Given the description of an element on the screen output the (x, y) to click on. 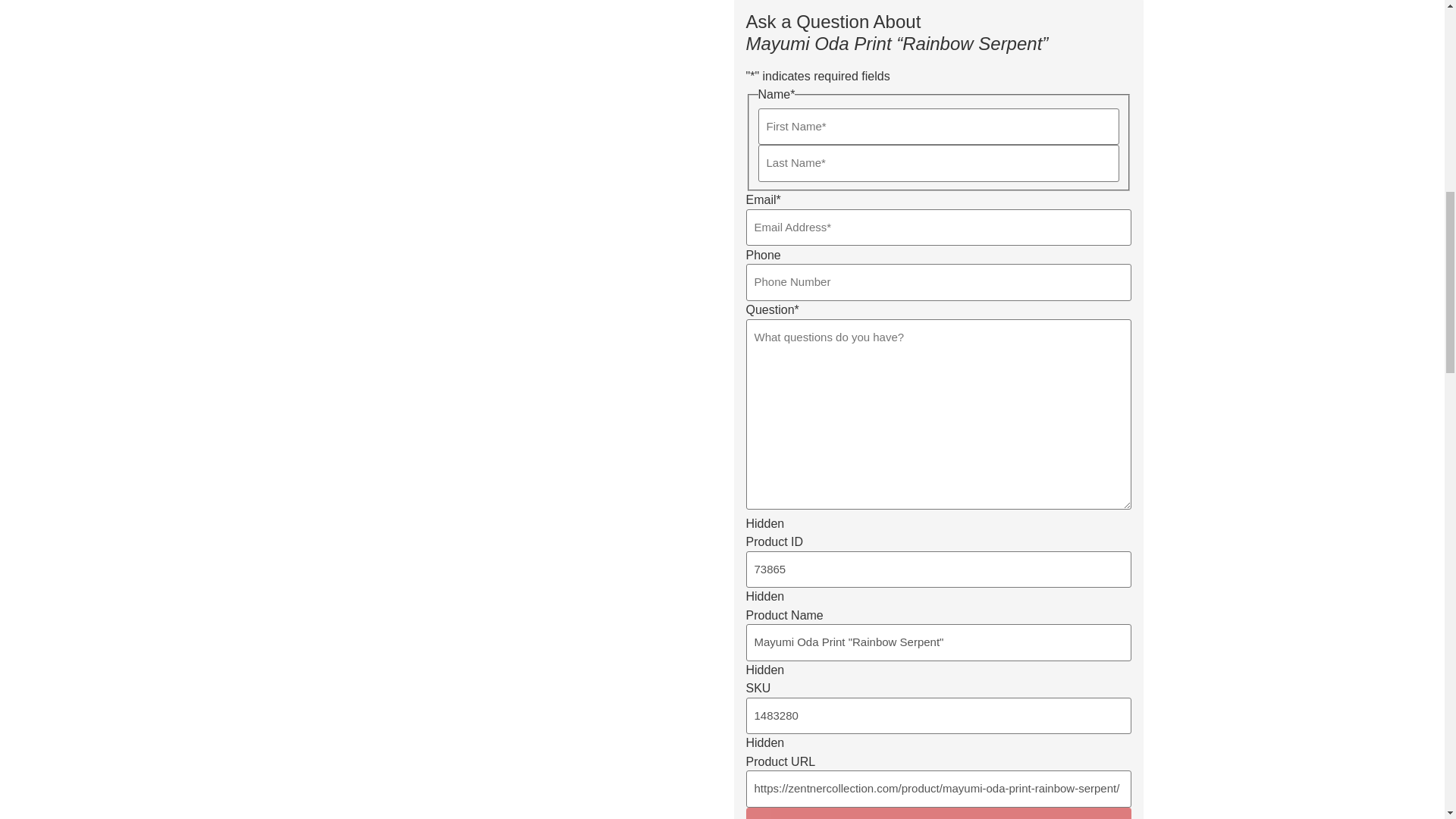
Ask Question (938, 813)
73865 (938, 569)
1483280 (938, 715)
Mayumi Oda Print "Rainbow Serpent" (938, 642)
